Given the description of an element on the screen output the (x, y) to click on. 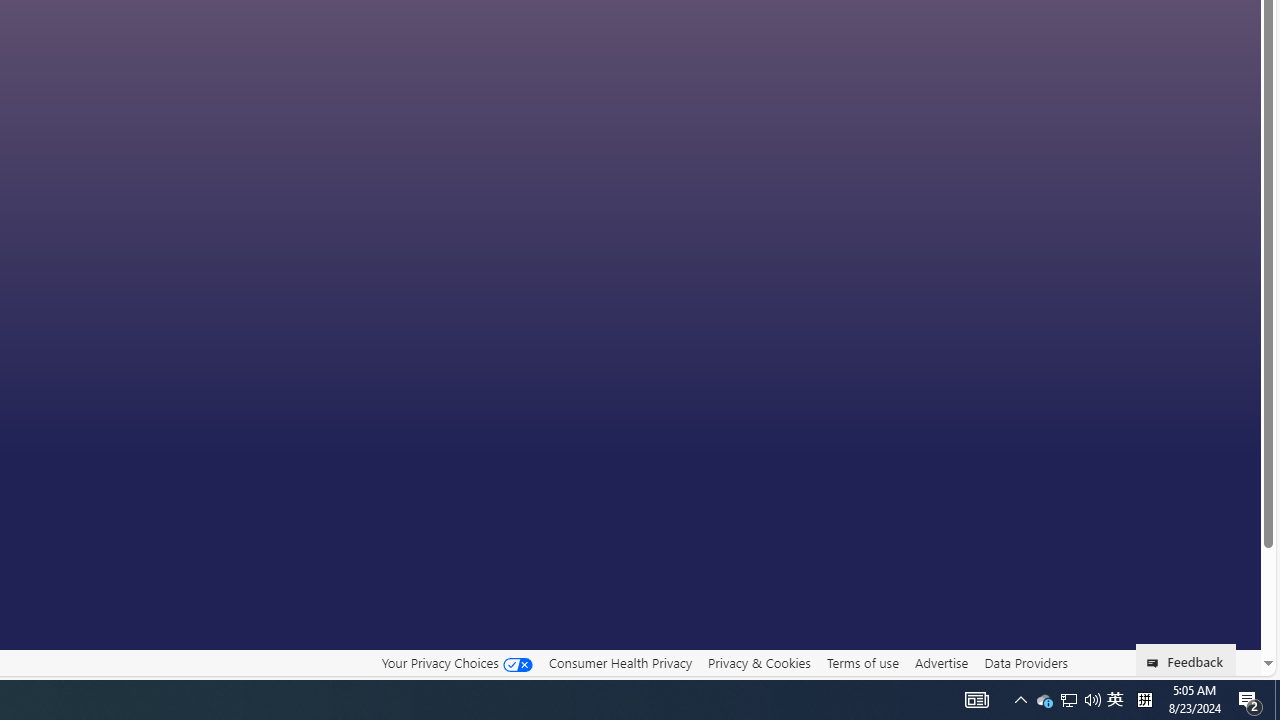
Data Providers (1025, 662)
Data Providers (1025, 663)
Class: feedback_link_icon-DS-EntryPoint1-1 (1156, 663)
